Given the description of an element on the screen output the (x, y) to click on. 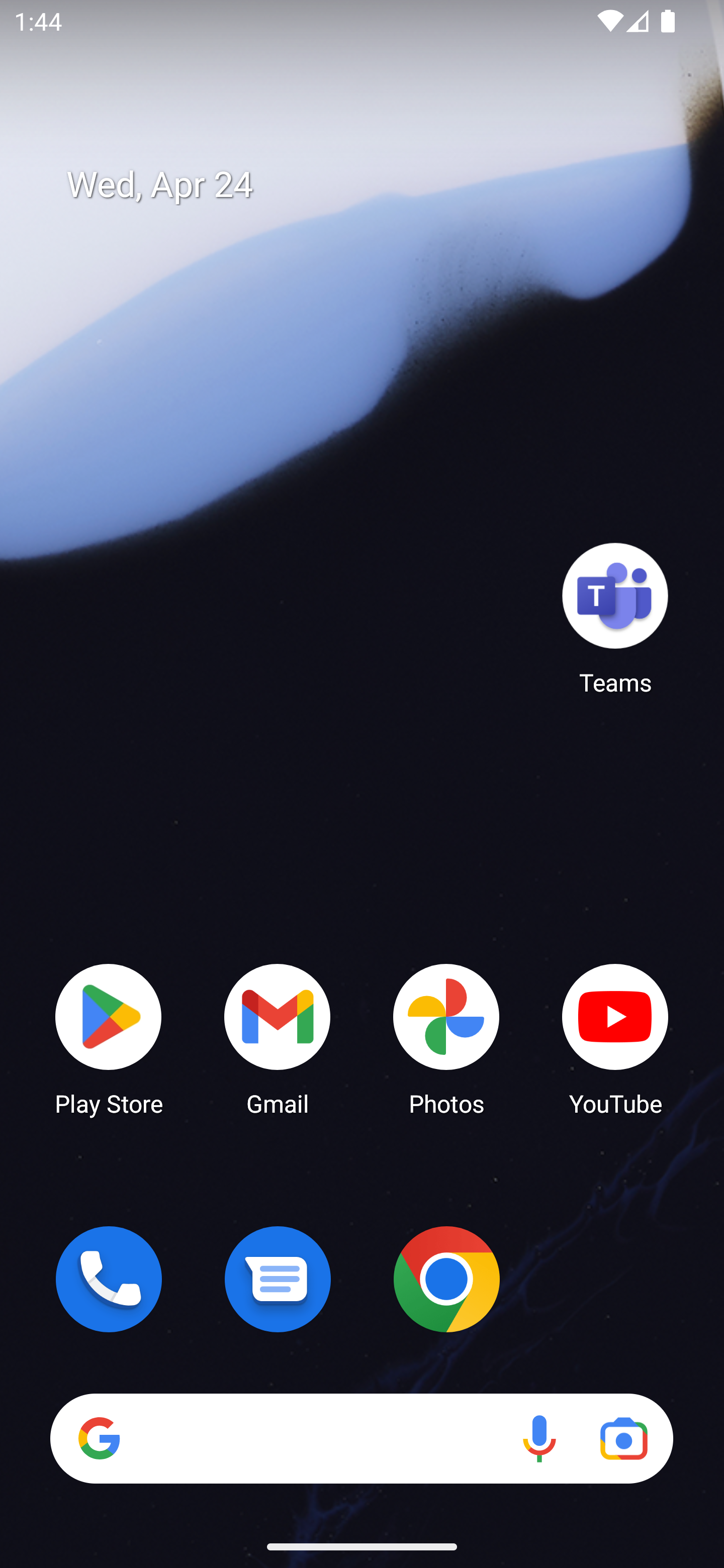
Wed, Apr 24 (375, 184)
Teams (615, 617)
Play Store (108, 1038)
Gmail (277, 1038)
Photos (445, 1038)
YouTube (615, 1038)
Phone (108, 1279)
Messages (277, 1279)
Chrome (446, 1279)
Search Voice search Google Lens (361, 1438)
Voice search (539, 1438)
Google Lens (623, 1438)
